Given the description of an element on the screen output the (x, y) to click on. 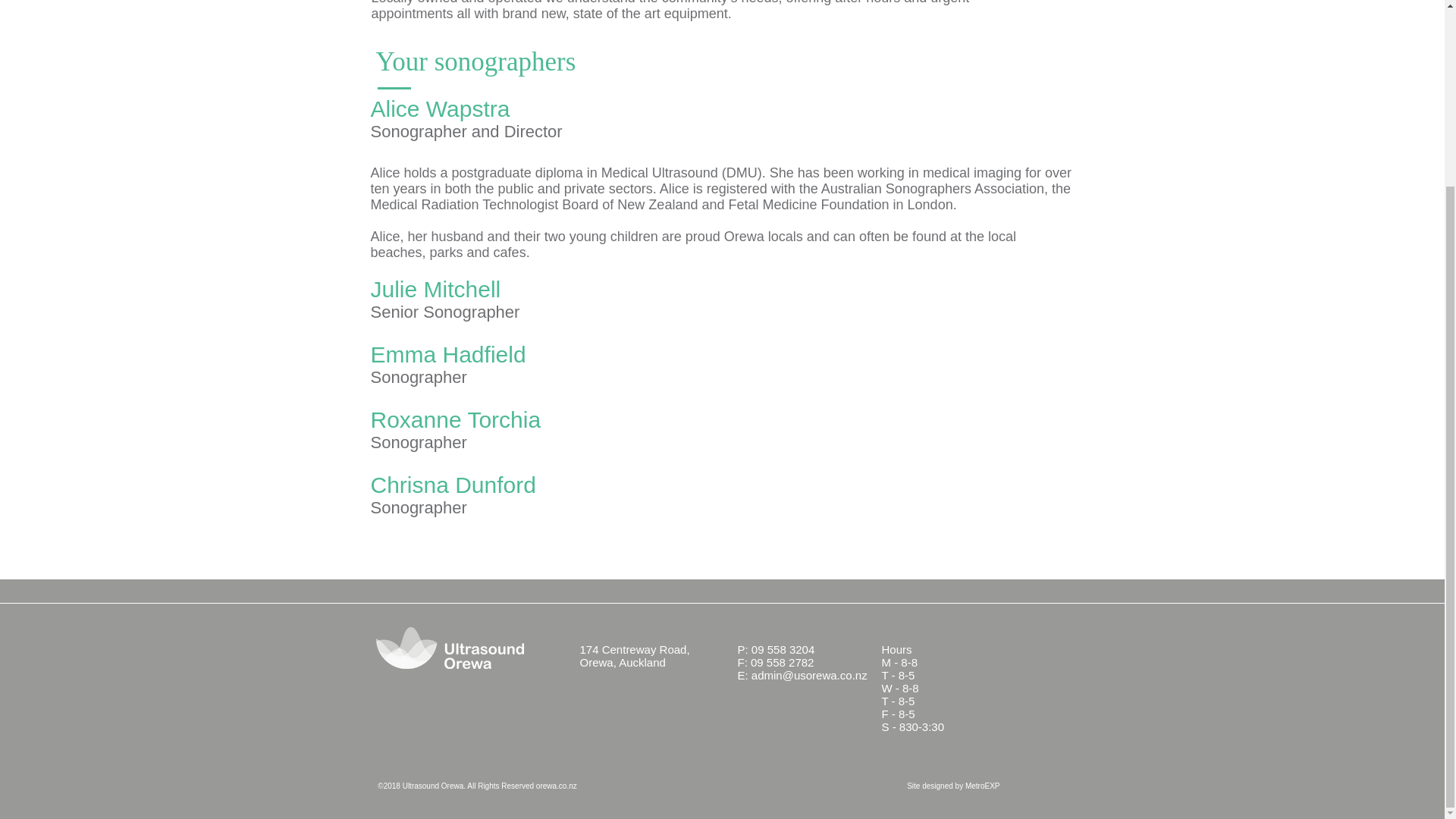
Site designed by MetroEXP (952, 786)
